Given the description of an element on the screen output the (x, y) to click on. 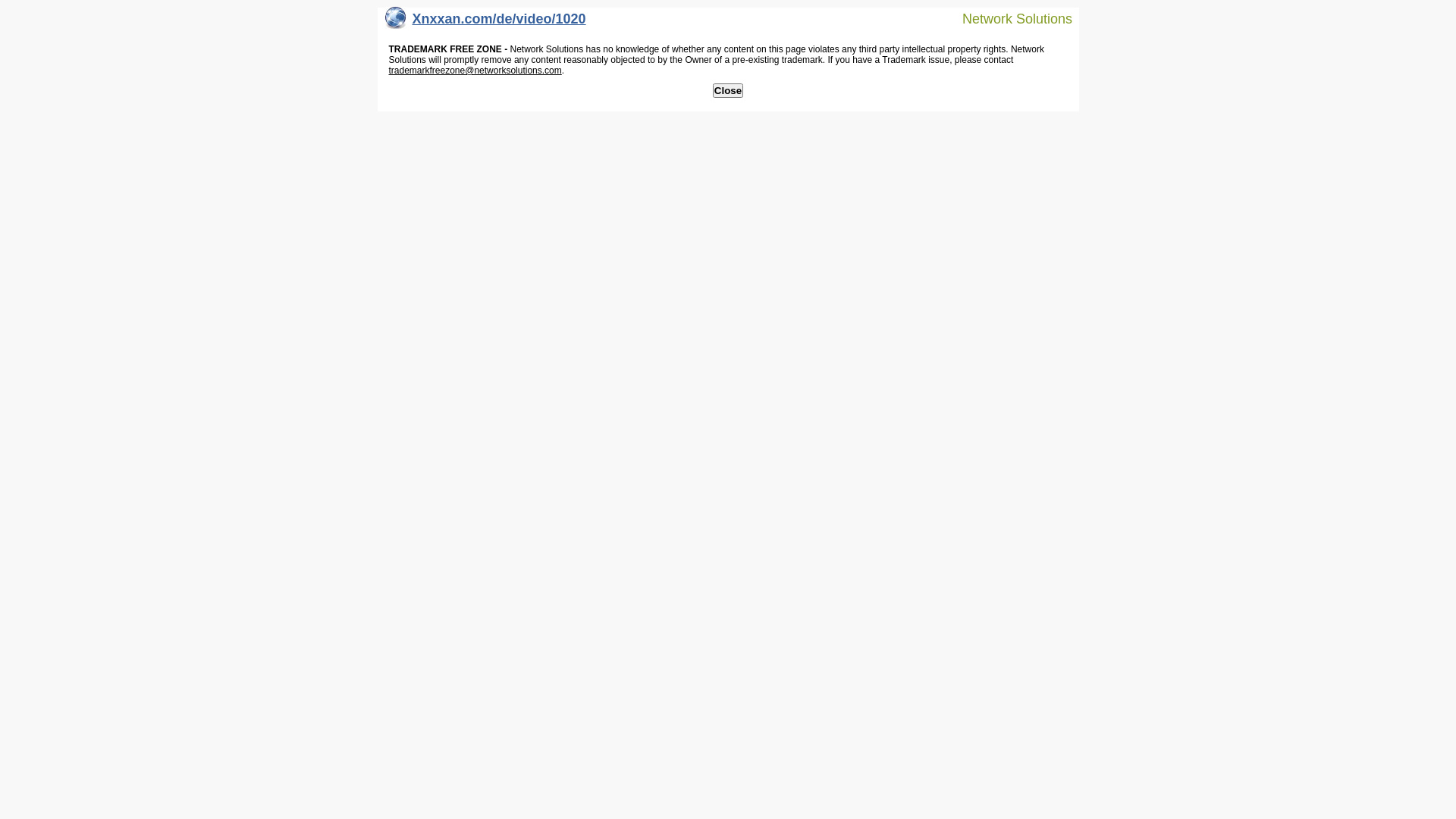
Network Solutions Element type: text (1007, 17)
Xnxxan.com/de/video/1020 Element type: text (485, 21)
trademarkfreezone@networksolutions.com Element type: text (474, 70)
Close Element type: text (727, 90)
